Given the description of an element on the screen output the (x, y) to click on. 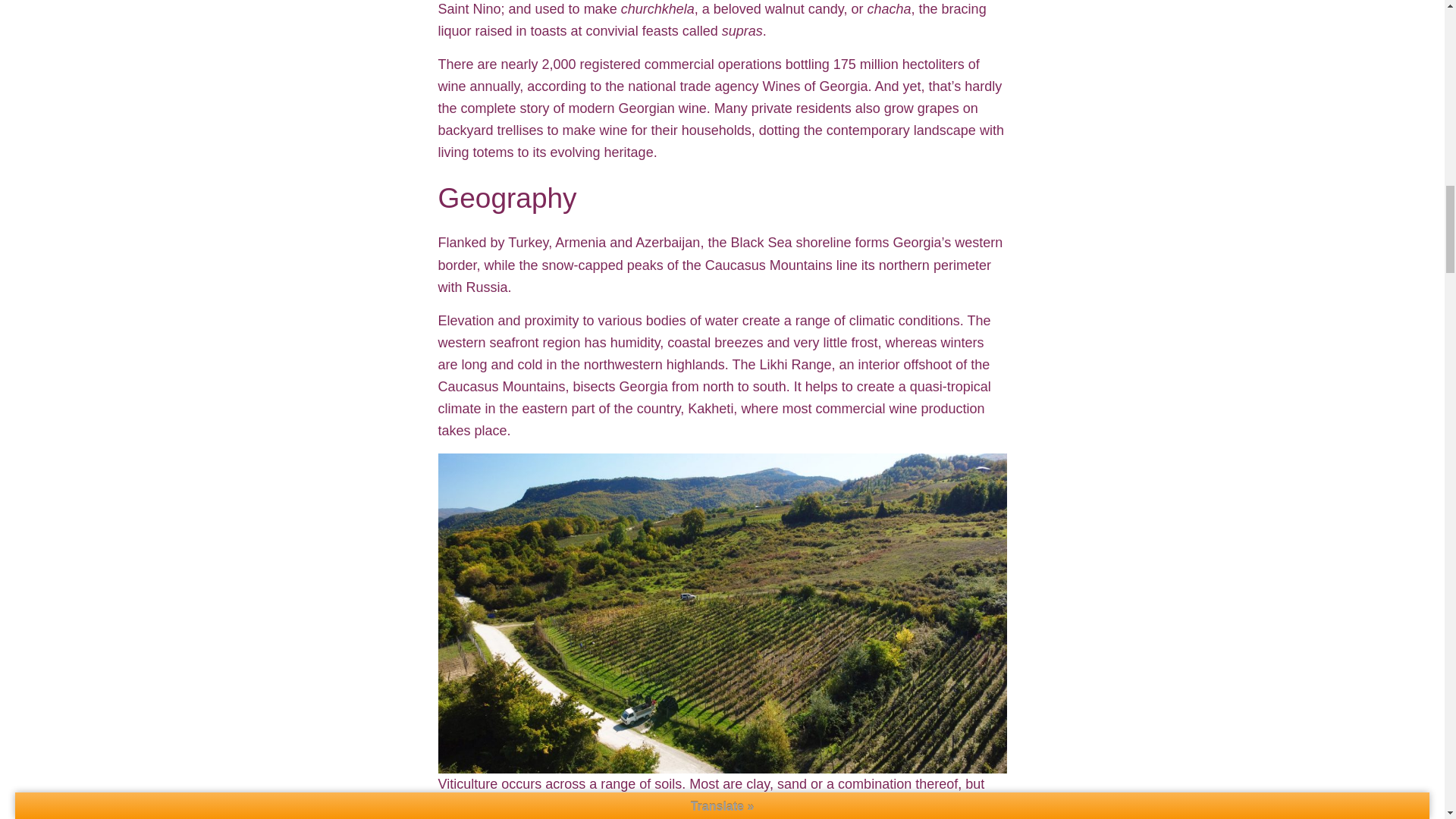
Elevation (466, 320)
Turkey (528, 242)
coastal breezes (714, 342)
Wines of Georgia (814, 86)
